Given the description of an element on the screen output the (x, y) to click on. 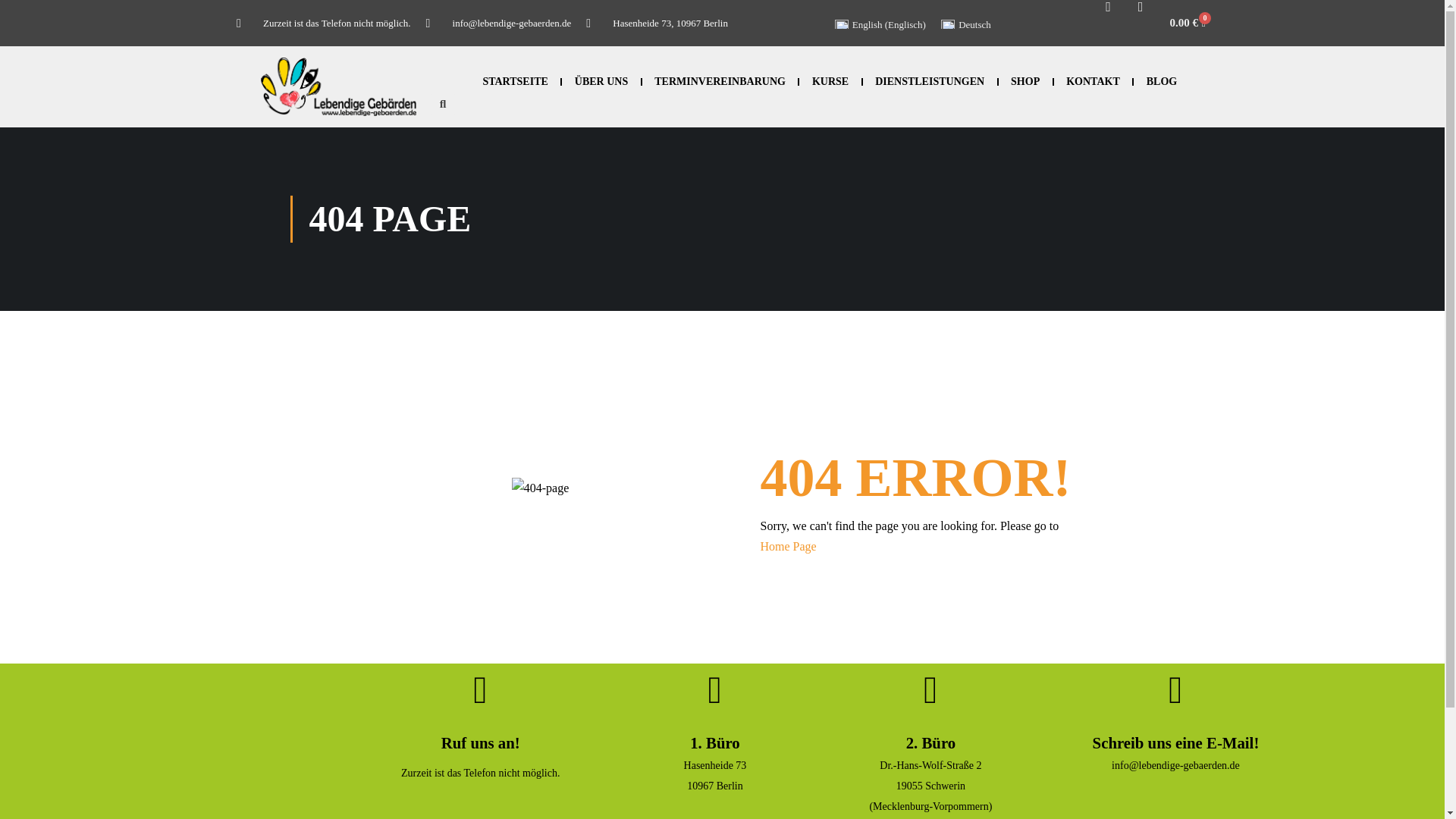
STARTSEITE (515, 81)
DIENSTLEISTUNGEN (929, 81)
SHOP (1025, 81)
KURSE (830, 81)
Deutsch (965, 24)
Home Page (787, 545)
TERMINVEREINBARUNG (720, 81)
KONTAKT (1092, 81)
BLOG (1160, 81)
Schreib uns eine E-Mail! (1176, 742)
